Given the description of an element on the screen output the (x, y) to click on. 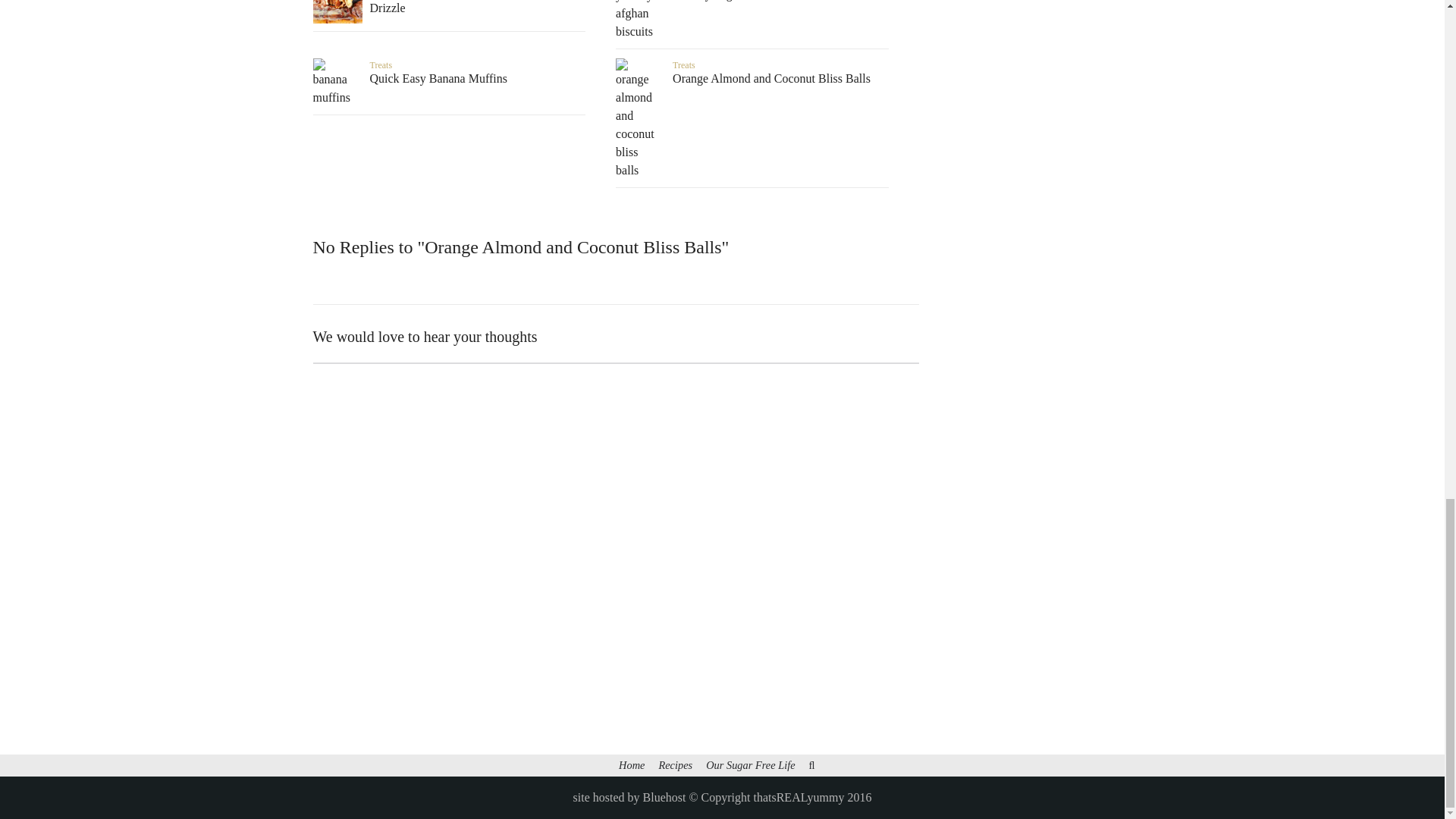
Cinnamon Rolls with Cream Cheese Drizzle (449, 7)
Quick Easy Banana Muffins (449, 78)
Treats (381, 64)
